Given the description of an element on the screen output the (x, y) to click on. 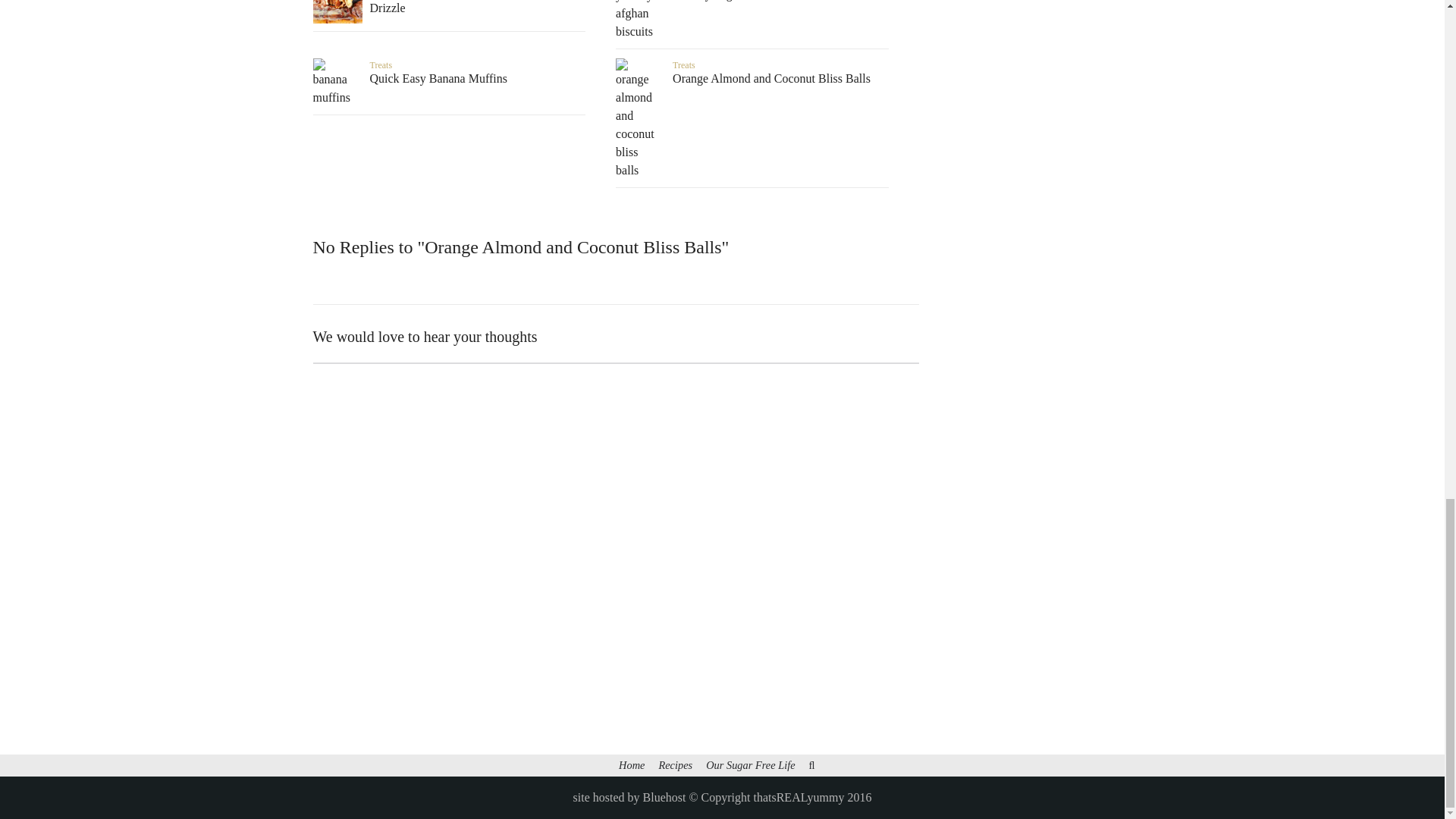
Cinnamon Rolls with Cream Cheese Drizzle (449, 7)
Quick Easy Banana Muffins (449, 78)
Treats (381, 64)
